Given the description of an element on the screen output the (x, y) to click on. 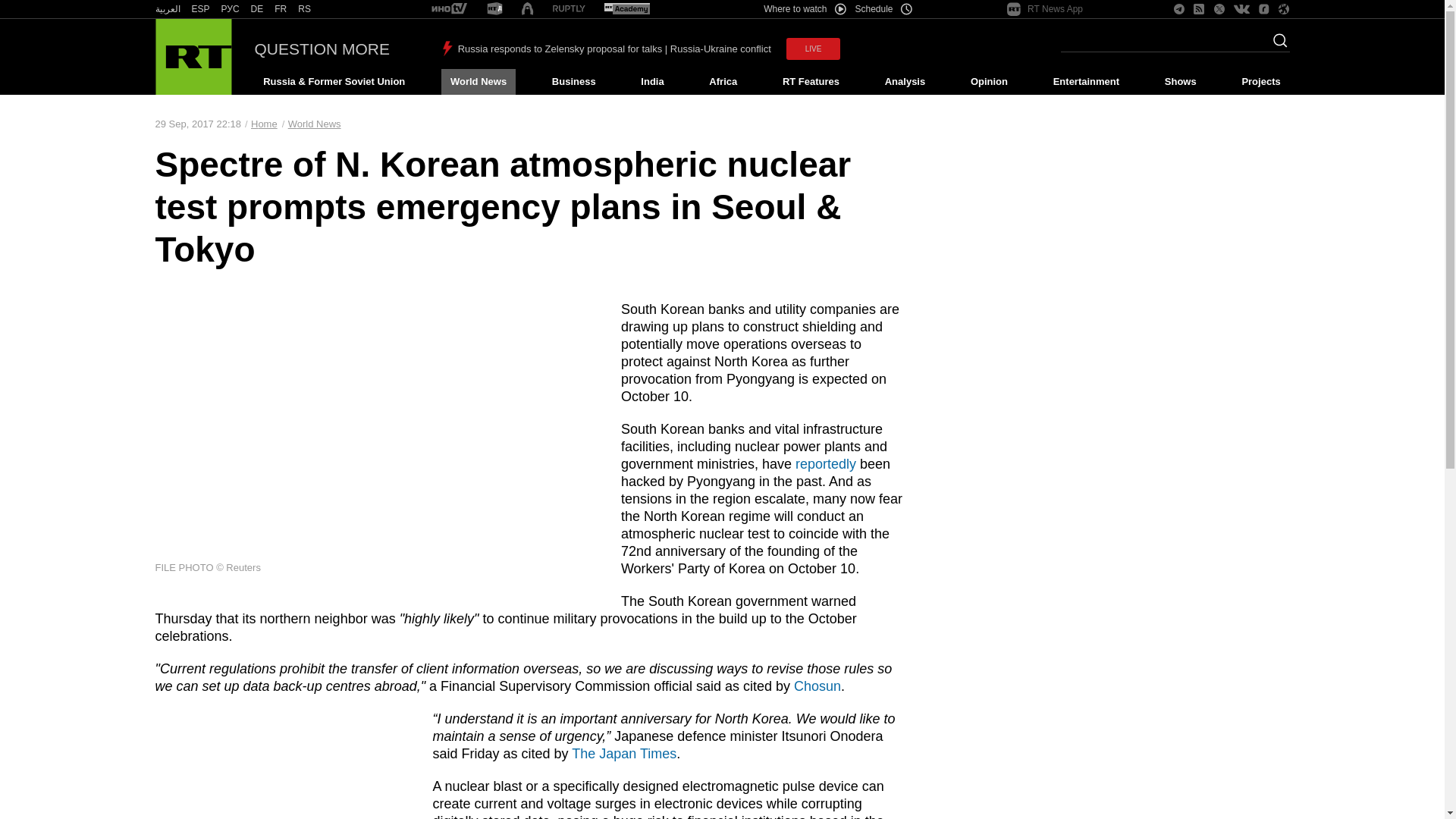
RT Features (810, 81)
LIVE (813, 48)
RS (304, 9)
Africa (722, 81)
Shows (1180, 81)
Search (1276, 44)
Analysis (905, 81)
Projects (1261, 81)
RT  (304, 9)
FR (280, 9)
RT  (280, 9)
RT  (569, 8)
Business (573, 81)
Schedule (884, 9)
RT  (256, 9)
